Given the description of an element on the screen output the (x, y) to click on. 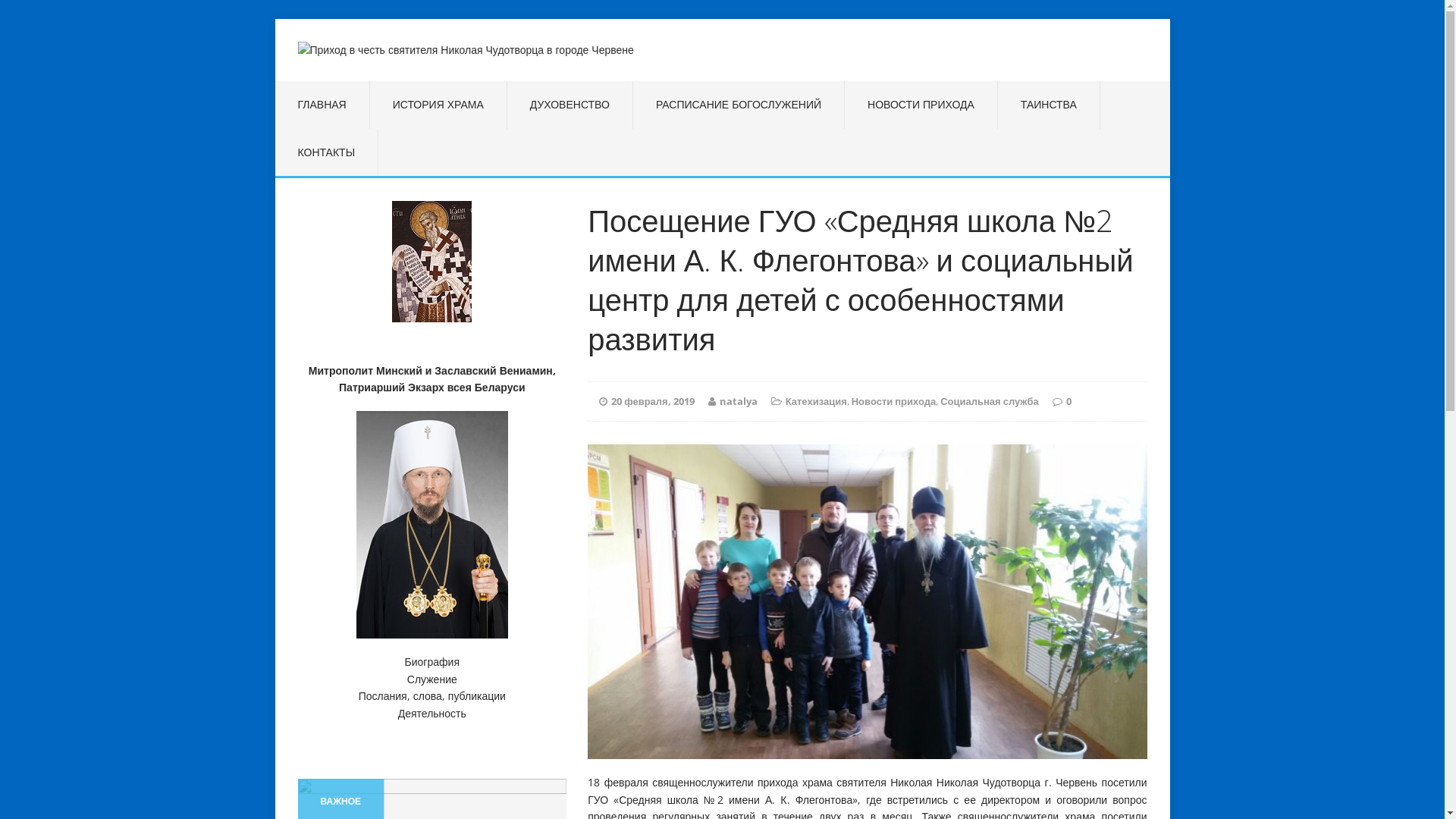
natalya Element type: text (738, 400)
0 Element type: text (1068, 400)
